Given the description of an element on the screen output the (x, y) to click on. 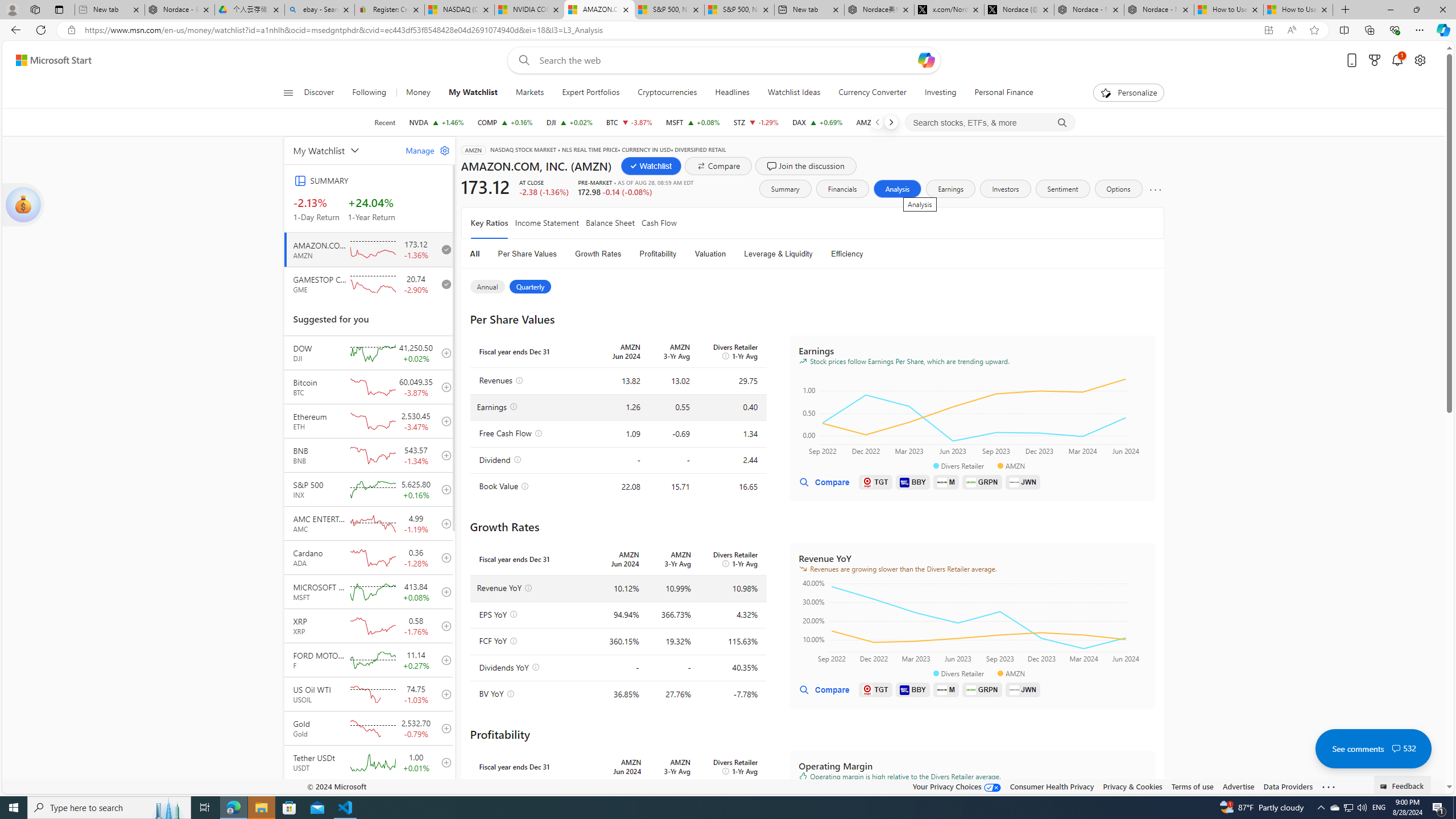
Per Share Values (527, 253)
Compare (718, 166)
Cryptocurrencies (667, 92)
Investing (940, 92)
DAX DAX increase 18,810.38 +128.57 +0.69% (817, 122)
Advertise (1238, 785)
Cash Flow (658, 223)
Expert Portfolios (591, 92)
Analysis (897, 188)
DJI DOW increase 41,250.50 +9.98 +0.02% (568, 122)
